Given the description of an element on the screen output the (x, y) to click on. 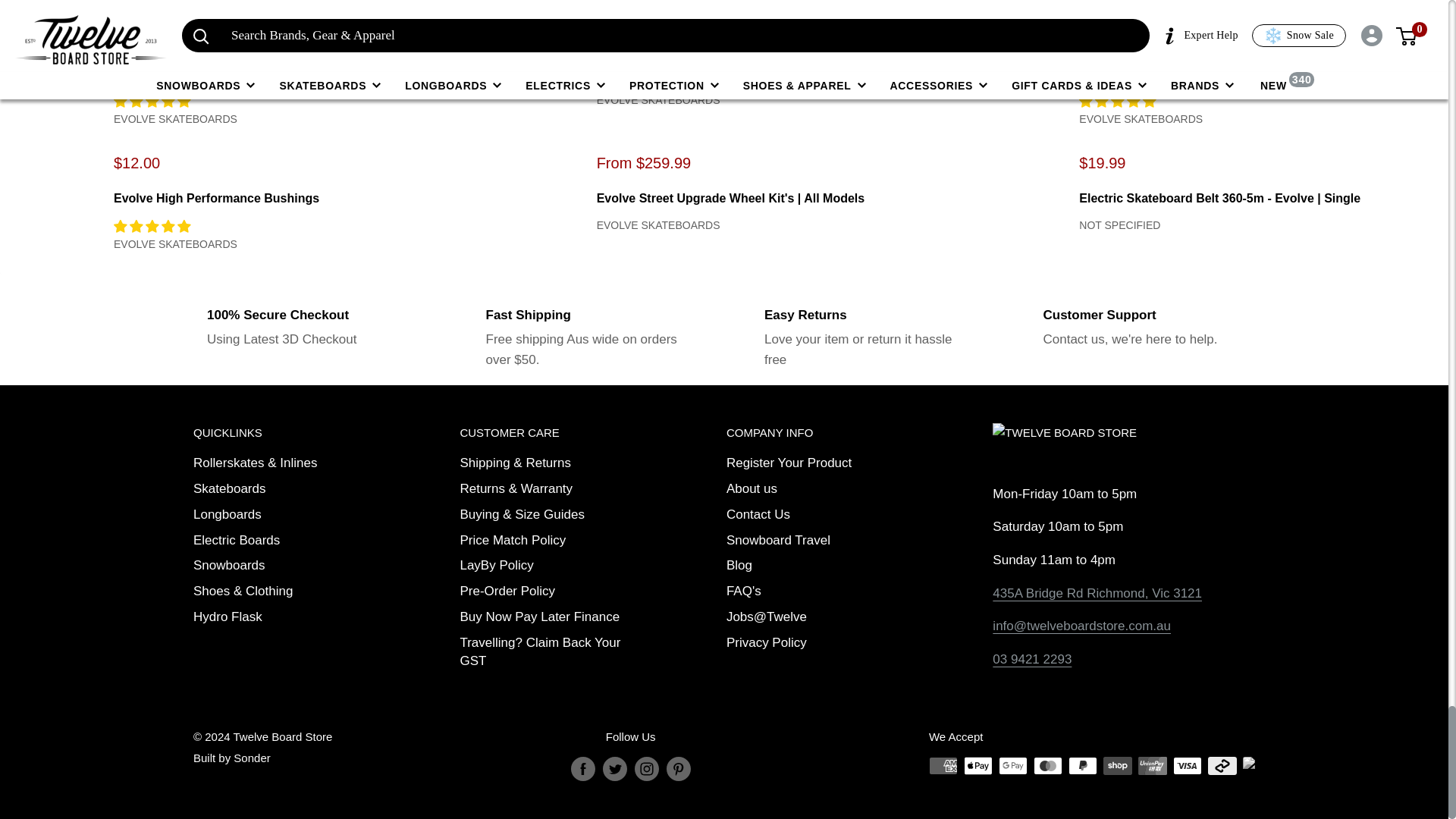
Electric Boards (280, 540)
Skateboards (280, 488)
Pre-Order Policy (546, 591)
LayBy Policy (546, 565)
Snowboards (280, 565)
Price Match Policy (546, 540)
Longboards (280, 514)
Hydro Flask (280, 616)
